Given the description of an element on the screen output the (x, y) to click on. 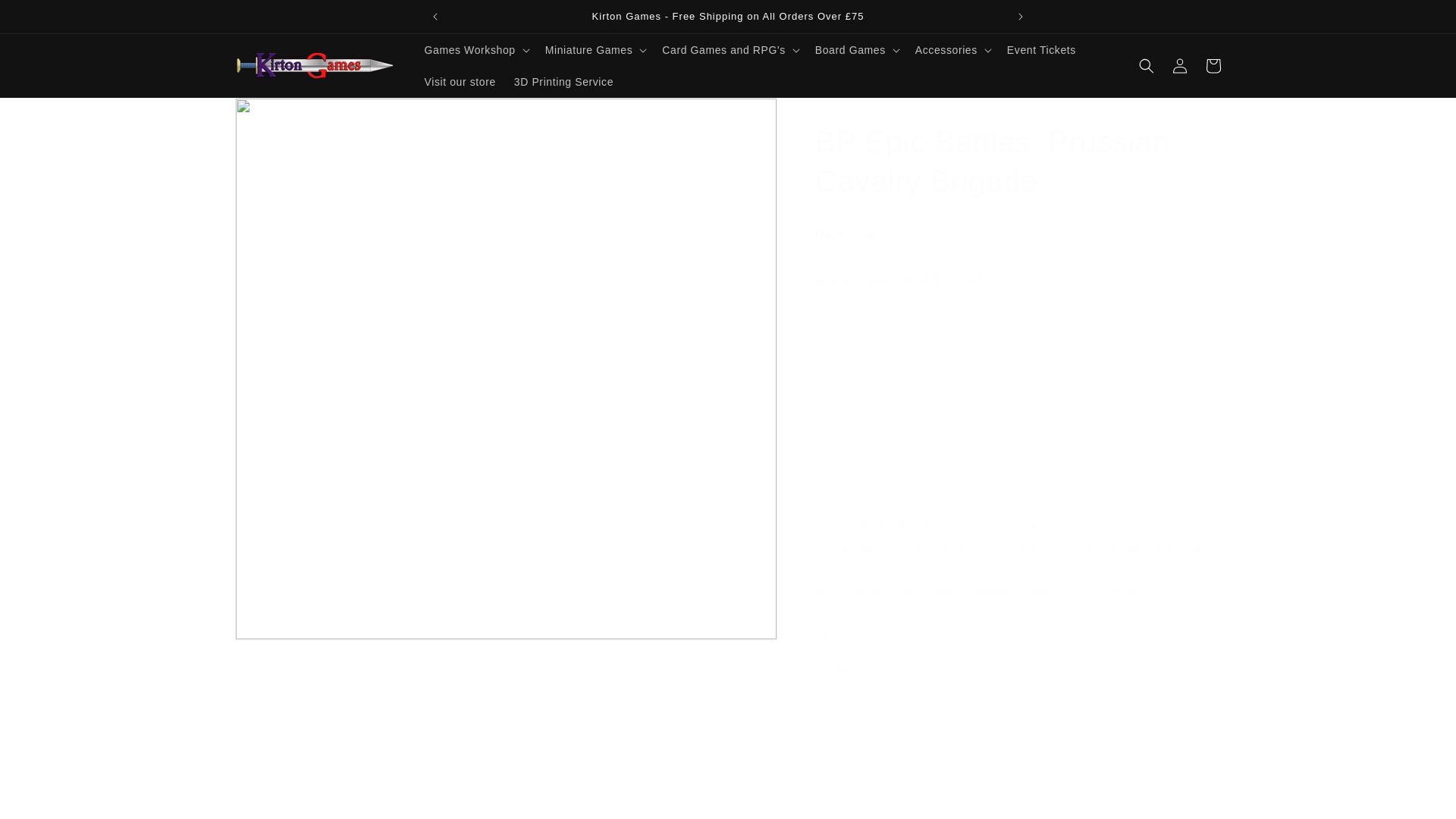
Skip to content (45, 17)
1 (869, 358)
